Given the description of an element on the screen output the (x, y) to click on. 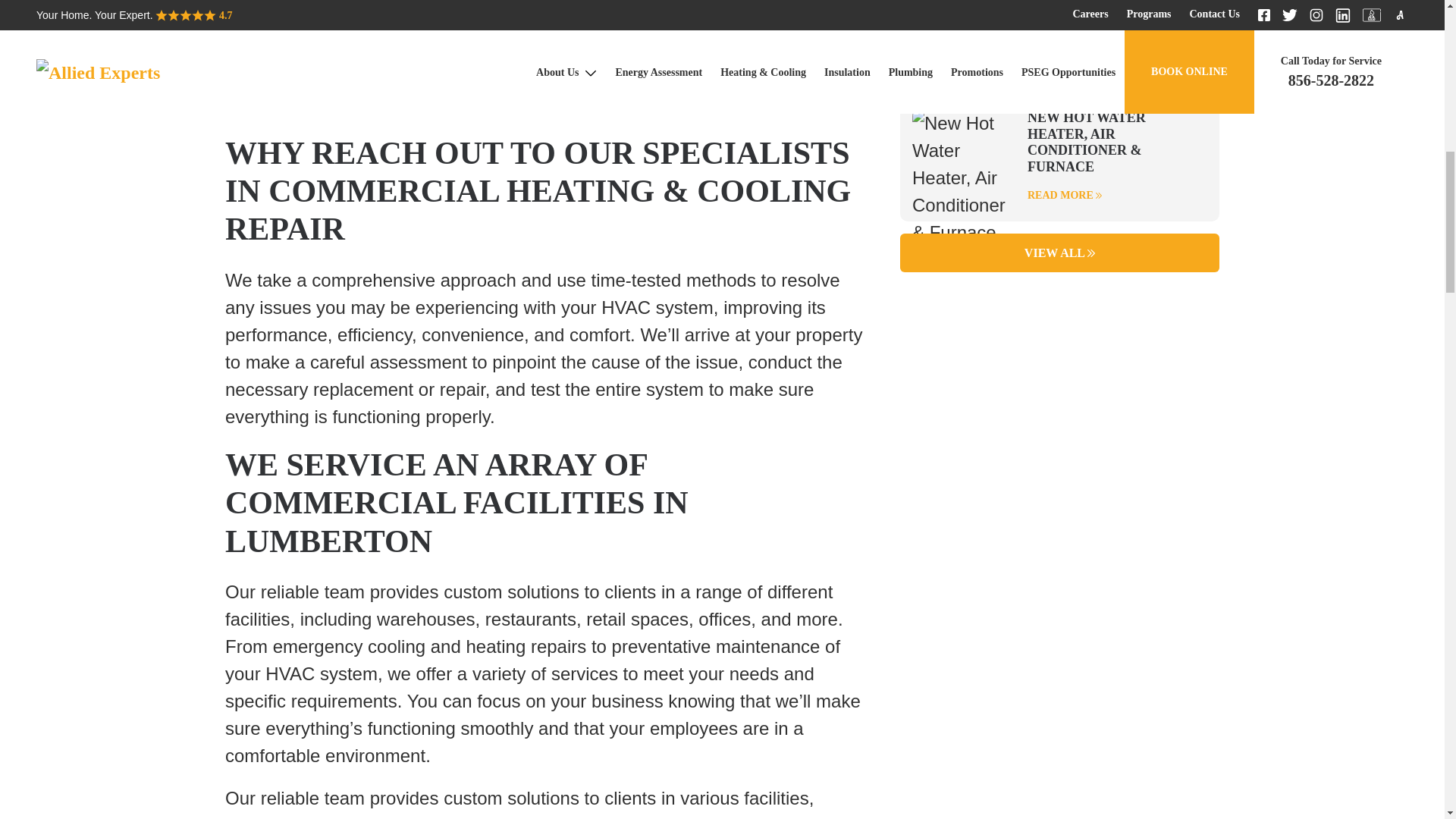
READ MORE  (1117, 195)
READ MORE  (1117, 53)
VIEW ALL  (1059, 252)
